Given the description of an element on the screen output the (x, y) to click on. 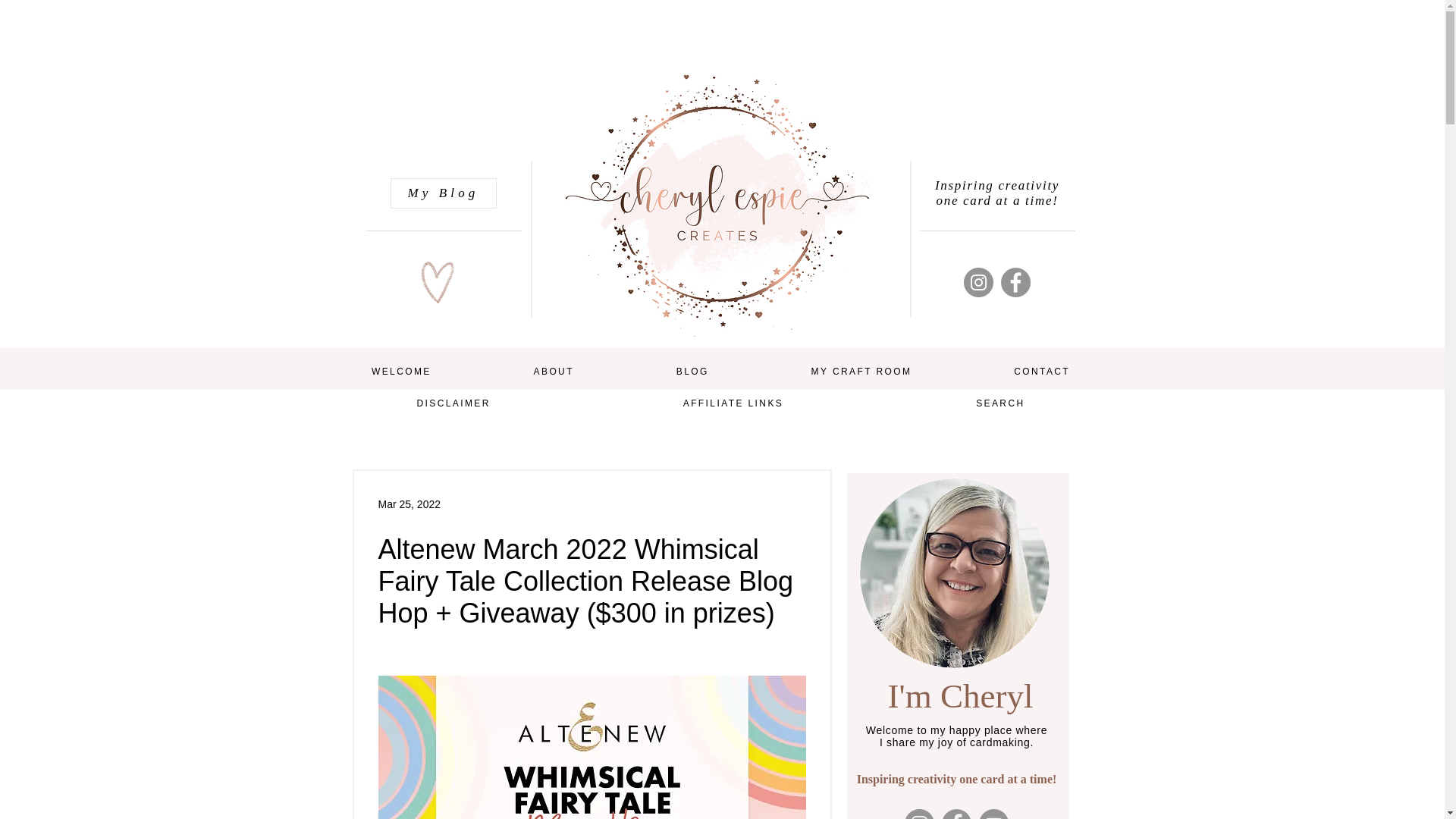
SEARCH (1000, 403)
one card at a time! (997, 200)
Inspiring creativity (996, 185)
DISCLAIMER (453, 403)
BLOG (692, 371)
MY CRAFT ROOM (861, 371)
CONTACT (1041, 371)
My Blog (443, 193)
ABOUT (553, 371)
WELCOME (400, 371)
Mar 25, 2022 (409, 503)
AFFILIATE LINKS (732, 403)
